Given the description of an element on the screen output the (x, y) to click on. 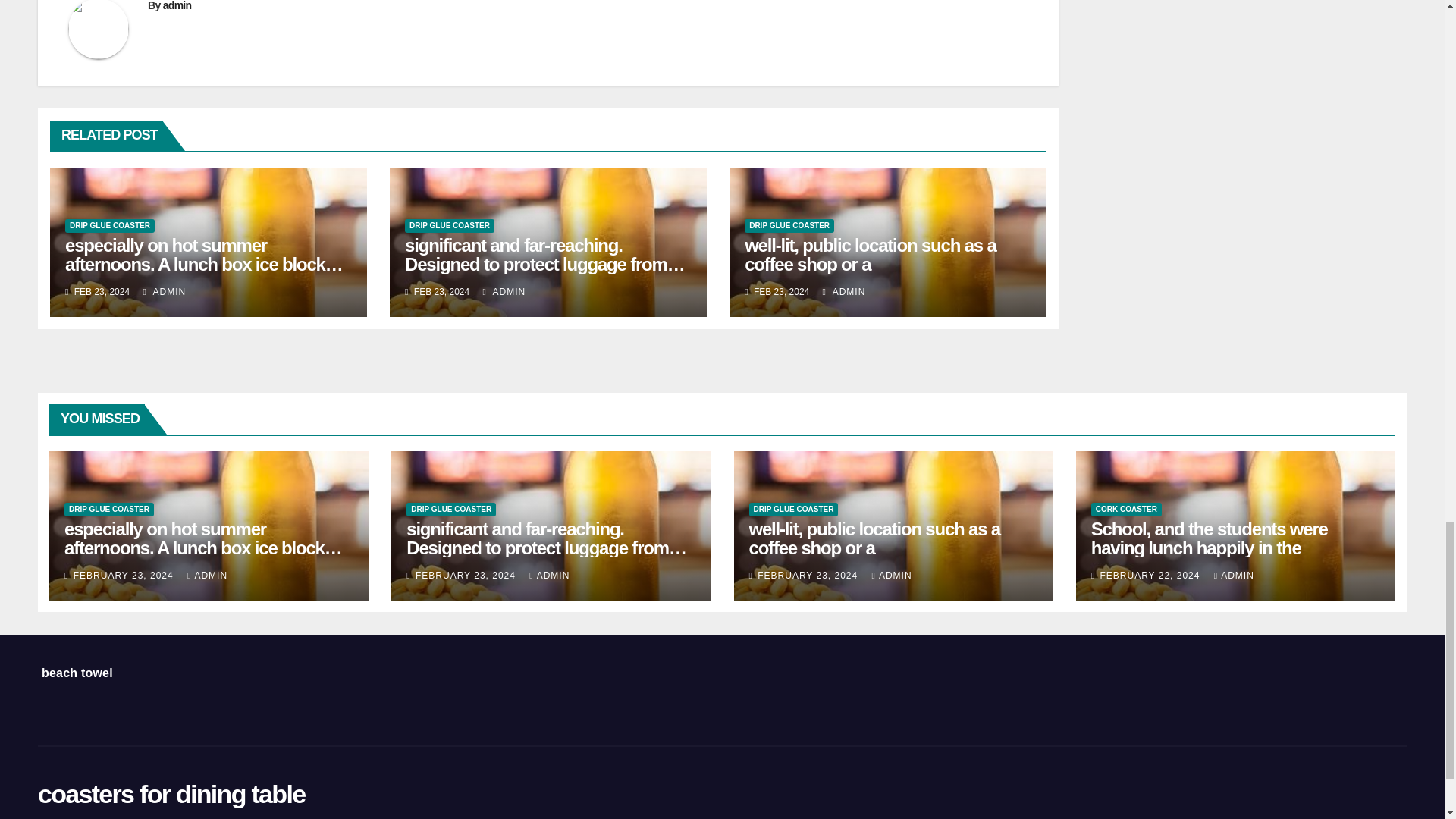
DRIP GLUE COASTER (449, 225)
DRIP GLUE COASTER (109, 225)
ADMIN (504, 291)
DRIP GLUE COASTER (789, 225)
well-lit, public location such as a coffee shop or a (869, 254)
ADMIN (844, 291)
ADMIN (164, 291)
admin (177, 5)
